Given the description of an element on the screen output the (x, y) to click on. 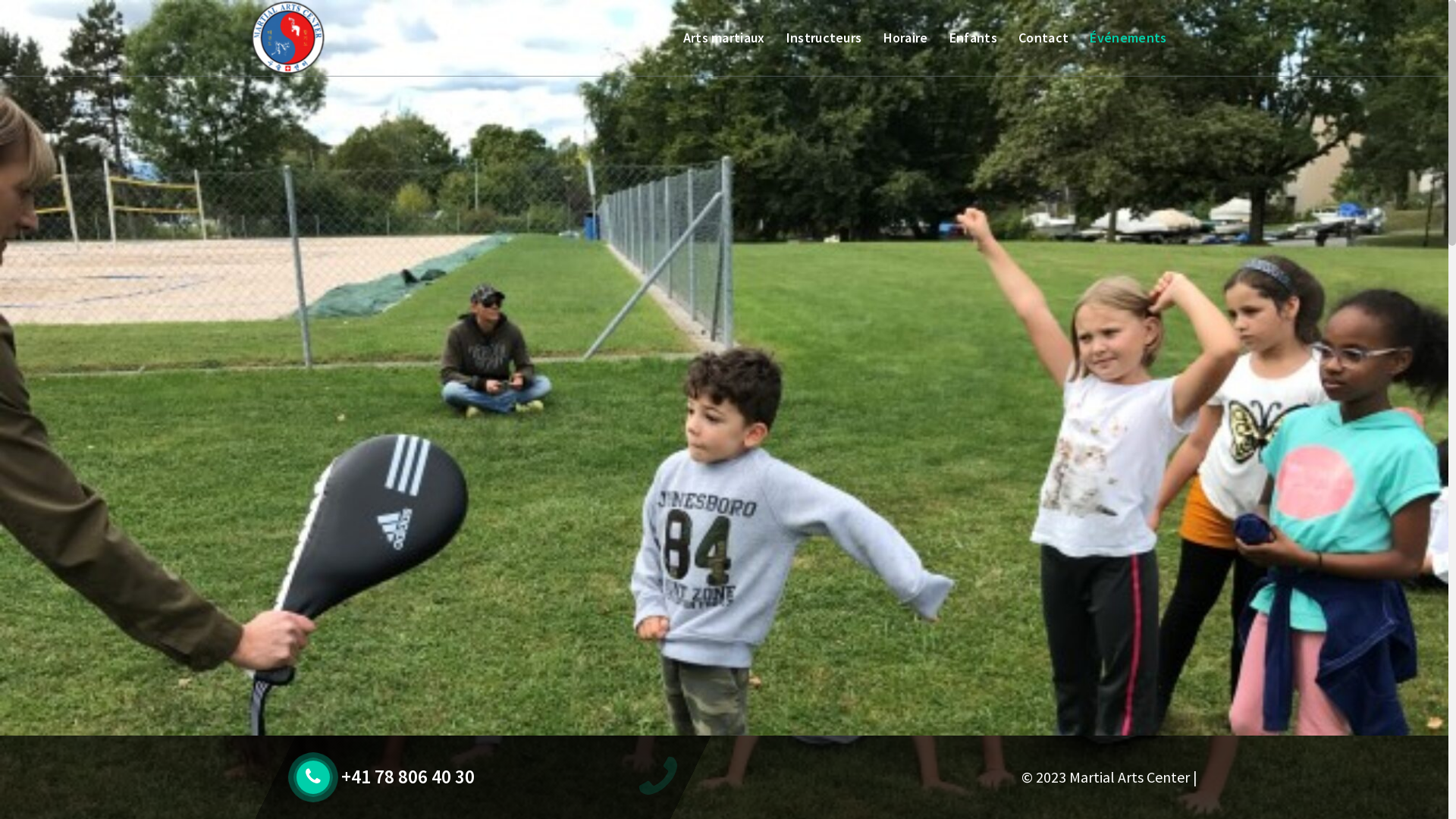
Arts martiaux Element type: text (723, 37)
Contact Element type: text (1043, 37)
Instructeurs Element type: text (823, 37)
Horaire Element type: text (905, 37)
Enfants Element type: text (972, 37)
